Given the description of an element on the screen output the (x, y) to click on. 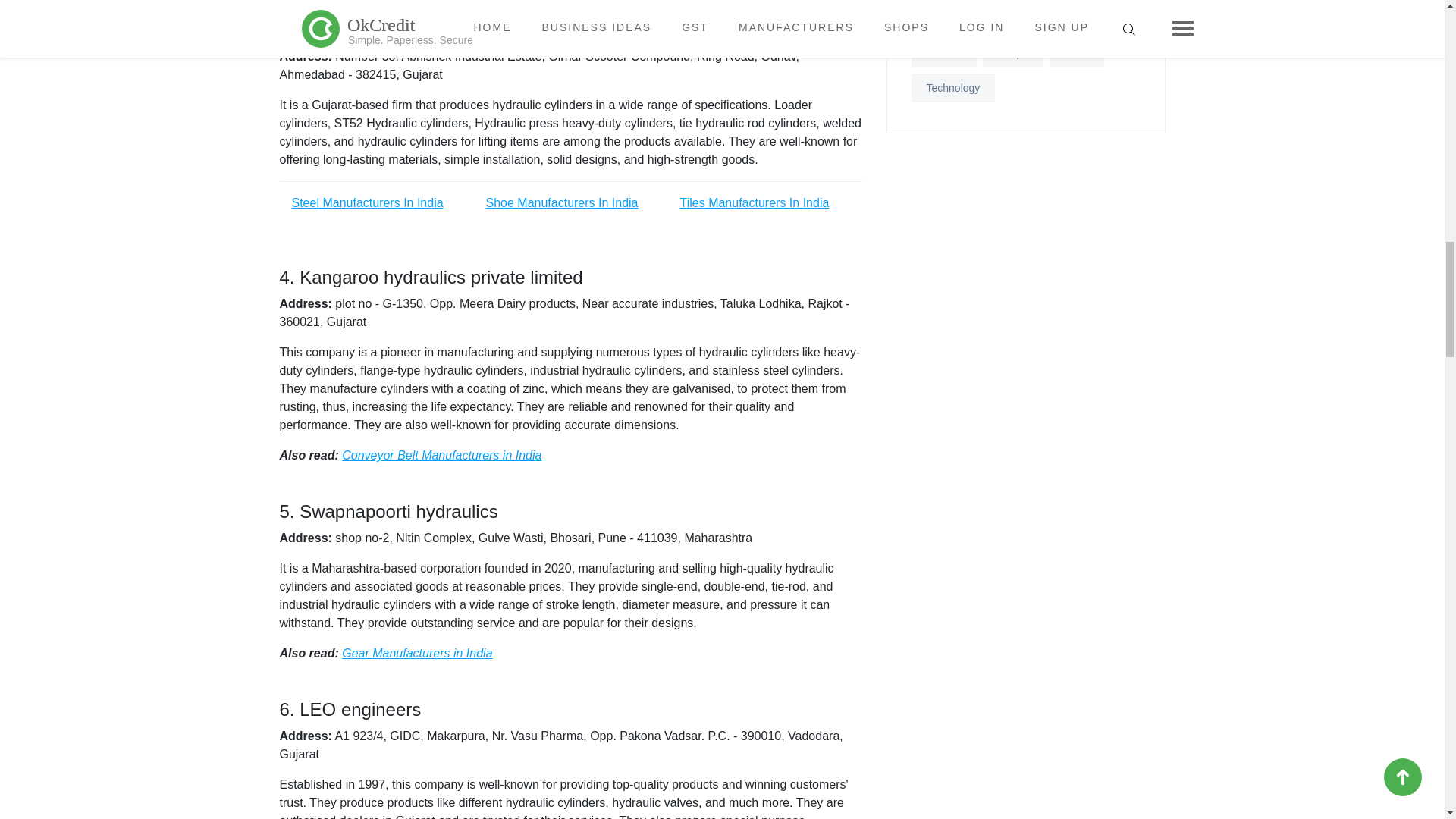
Tiles Manufacturers In India (753, 202)
Steel Manufacturers In India (366, 202)
Conveyor Belt Manufacturers in India (441, 454)
Shoe Manufacturers In India (560, 202)
Gear Manufacturers in India (417, 653)
